Given the description of an element on the screen output the (x, y) to click on. 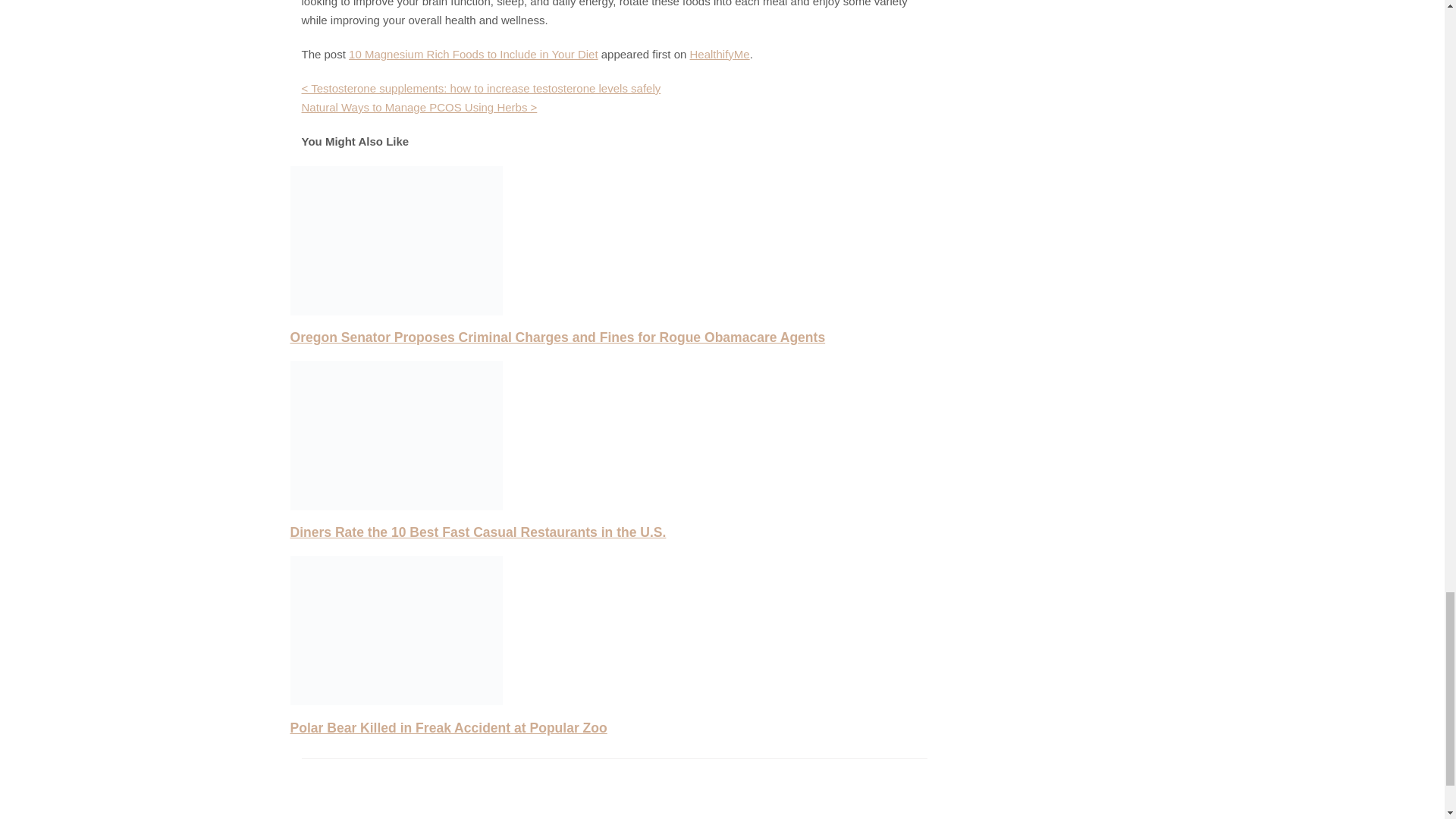
10 Magnesium Rich Foods to Include in Your Diet (473, 53)
HealthifyMe (719, 53)
Polar Bear Killed in Freak Accident at Popular Zoo (448, 727)
Diners Rate the 10 Best Fast Casual Restaurants in the U.S. (477, 531)
